Given the description of an element on the screen output the (x, y) to click on. 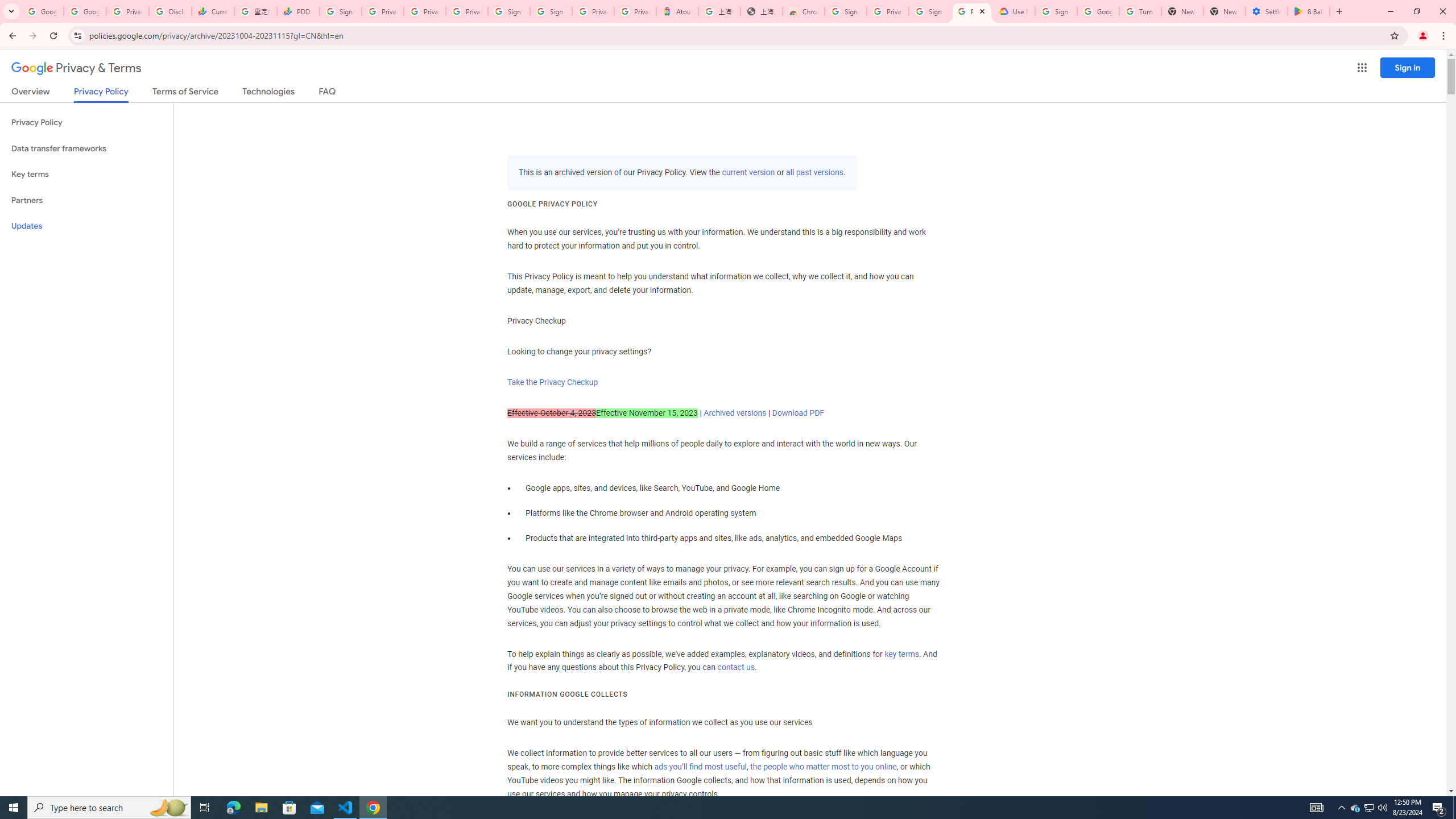
Privacy Checkup (424, 11)
Sign in - Google Accounts (1055, 11)
PDD Holdings Inc - ADR (PDD) Price & News - Google Finance (298, 11)
Google Workspace Admin Community (42, 11)
